Given the description of an element on the screen output the (x, y) to click on. 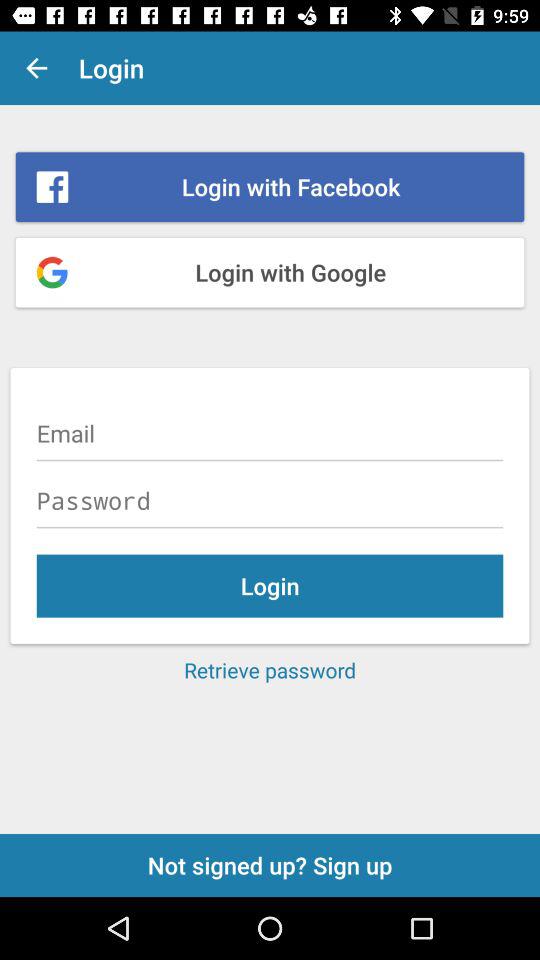
enter your password (269, 500)
